Given the description of an element on the screen output the (x, y) to click on. 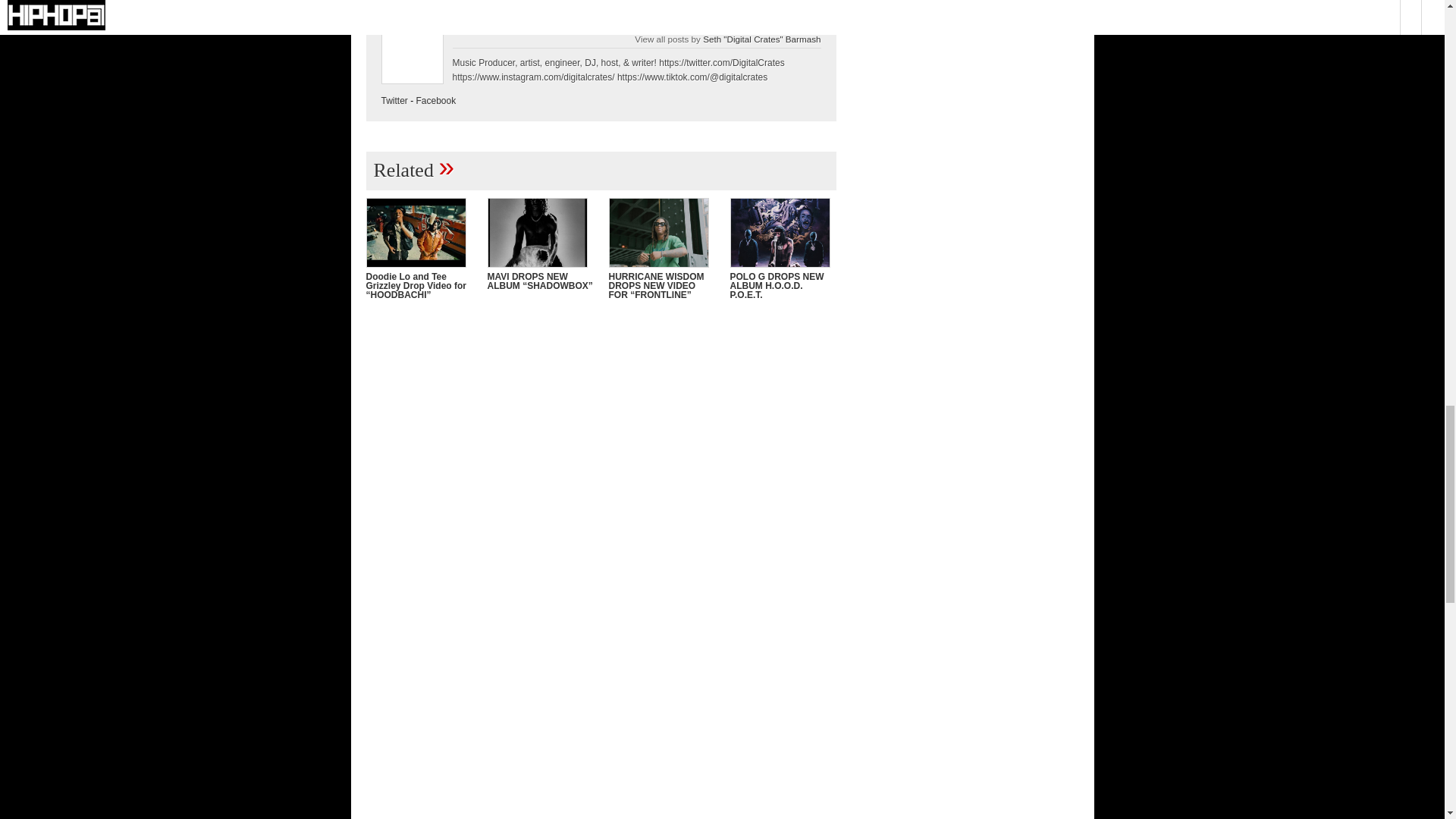
Facebook (436, 100)
Posts by Seth "Digital Crates" Barmash (762, 39)
POLO G DROPS NEW ALBUM H.O.O.D. P.O.E.T. (782, 232)
POLO G DROPS NEW ALBUM H.O.O.D. P.O.E.T. (776, 285)
Seth "Digital Crates" Barmash (607, 28)
Twitter (393, 100)
POLO G DROPS NEW ALBUM H.O.O.D. P.O.E.T. (776, 285)
Seth "Digital Crates" Barmash (762, 39)
Posts by Seth "Digital Crates" Barmash (607, 28)
